Given the description of an element on the screen output the (x, y) to click on. 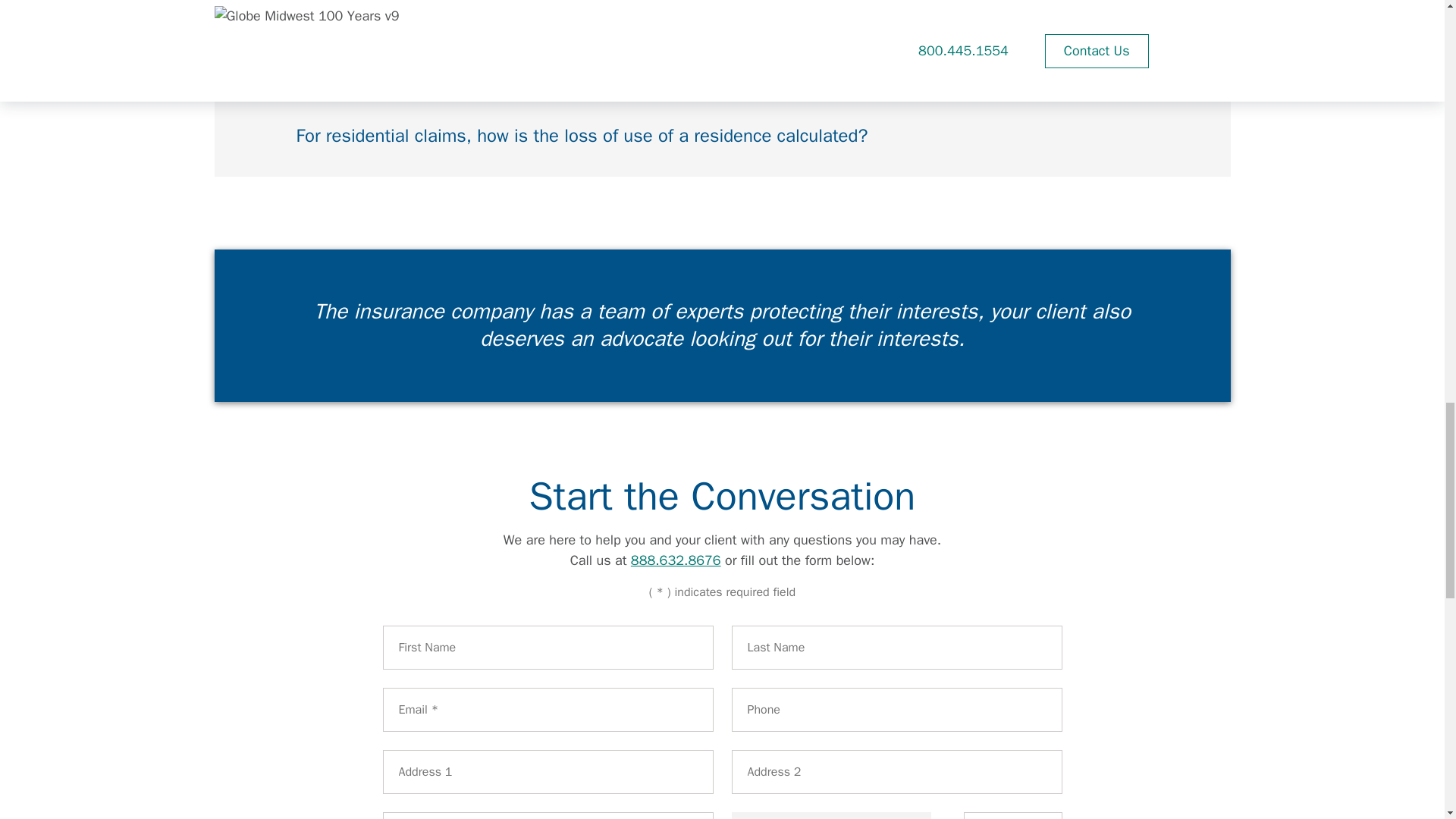
Email (547, 709)
Zip (1012, 815)
Address 1 (547, 771)
Last Name (895, 647)
Telephone (895, 709)
City (547, 815)
888.632.8676 (675, 560)
Address 2 (895, 771)
First Name (547, 647)
